Given the description of an element on the screen output the (x, y) to click on. 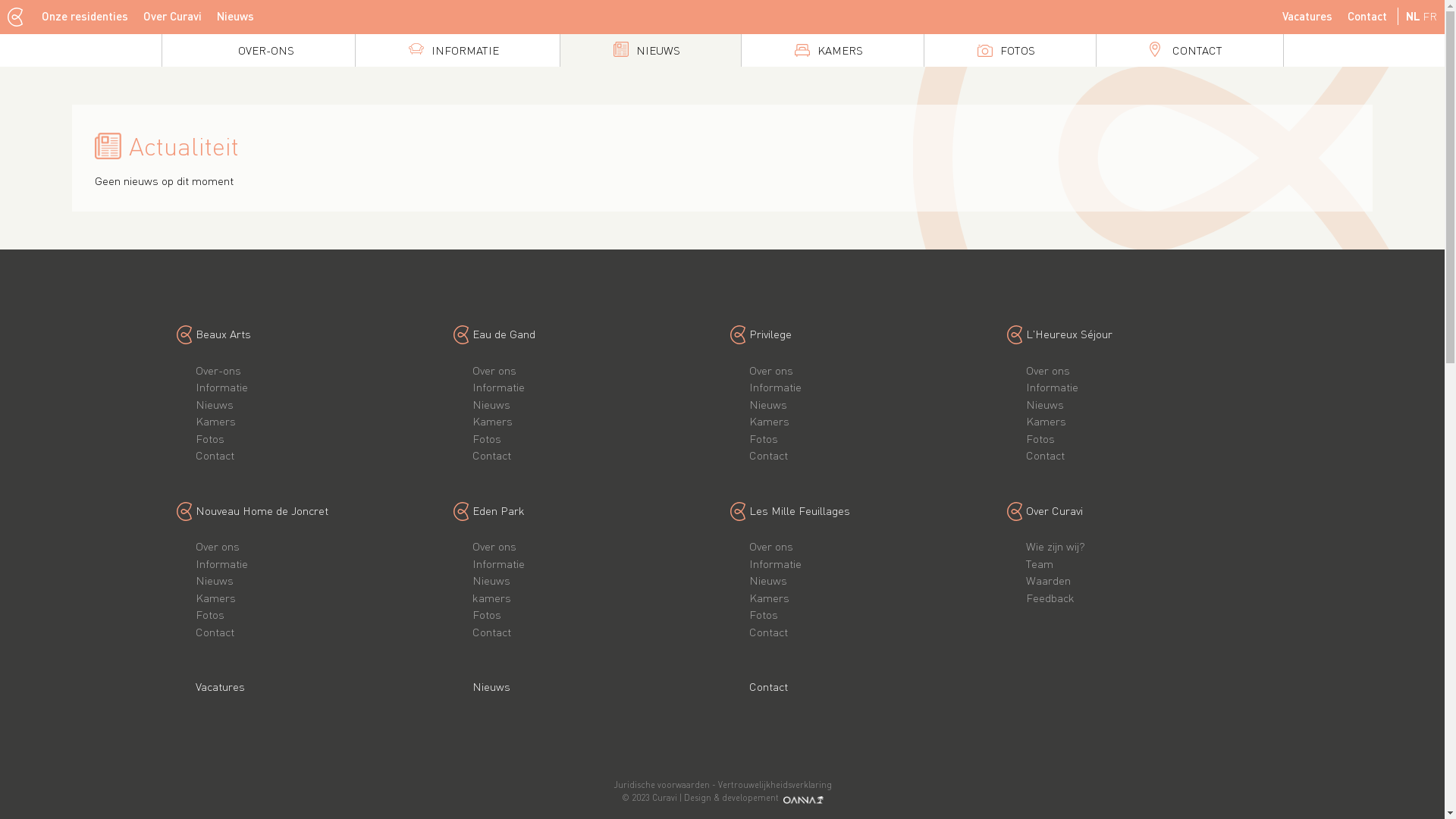
Kamers Element type: text (491, 420)
Informatie Element type: text (497, 563)
kamers Element type: text (490, 597)
Over ons Element type: text (493, 369)
Fotos Element type: text (209, 613)
Contact Element type: text (1044, 454)
Beaux Arts Element type: text (223, 333)
Kamers Element type: text (1045, 420)
Nieuws Element type: text (214, 579)
NIEUWS Element type: text (649, 50)
Fotos Element type: text (1039, 437)
Les Mille Feuillages Element type: text (799, 509)
INFORMATIE Element type: text (456, 50)
Over ons Element type: text (771, 369)
Nieuws Element type: text (1044, 403)
Kamers Element type: text (215, 597)
Informatie Element type: text (497, 386)
Informatie Element type: text (775, 386)
FOTOS Element type: text (1009, 50)
Over ons Element type: text (217, 545)
Fotos Element type: text (485, 437)
Nouveau Home de Joncret Element type: text (261, 509)
Over ons Element type: text (771, 545)
Nieuws Element type: text (490, 579)
Over Curavi Element type: text (1053, 509)
Informatie Element type: text (221, 563)
Vacatures Element type: text (219, 685)
Contact Element type: text (214, 454)
Nieuws Element type: text (214, 403)
Contact Element type: text (768, 454)
Kamers Element type: text (769, 420)
Vertrouwelijkheidsverklaring Element type: text (774, 784)
Contact Element type: text (214, 631)
Privilege Element type: text (770, 333)
Feedback Element type: text (1049, 597)
FR Element type: text (1429, 15)
Fotos Element type: text (763, 613)
Fotos Element type: text (209, 437)
KAMERS Element type: text (832, 50)
Eau de Gand Element type: text (502, 333)
Eden Park Element type: text (497, 509)
Nieuws Element type: text (768, 403)
Over ons Element type: text (1047, 369)
Contact Element type: text (490, 454)
Over-ons Element type: text (218, 369)
CONTACT Element type: text (1189, 50)
Juridische voorwaarden Element type: text (660, 784)
OVER-ONS Element type: text (258, 50)
Fotos Element type: text (763, 437)
Nieuws Element type: text (490, 403)
Wie zijn wij? Element type: text (1054, 545)
Contact Element type: text (1366, 16)
Informatie Element type: text (775, 563)
Nieuws Element type: text (768, 579)
Nieuws Element type: text (235, 16)
Over Curavi Element type: text (172, 16)
Vacatures Element type: text (1307, 16)
Contact Element type: text (490, 631)
Contact Element type: text (768, 685)
Kamers Element type: text (769, 597)
Informatie Element type: text (221, 386)
Contact Element type: text (768, 631)
Onze residenties Element type: text (84, 16)
Fotos Element type: text (485, 613)
Informatie Element type: text (1051, 386)
Nieuws Element type: text (490, 685)
Team Element type: text (1038, 563)
Kamers Element type: text (215, 420)
Over ons Element type: text (493, 545)
Waarden Element type: text (1047, 579)
